Given the description of an element on the screen output the (x, y) to click on. 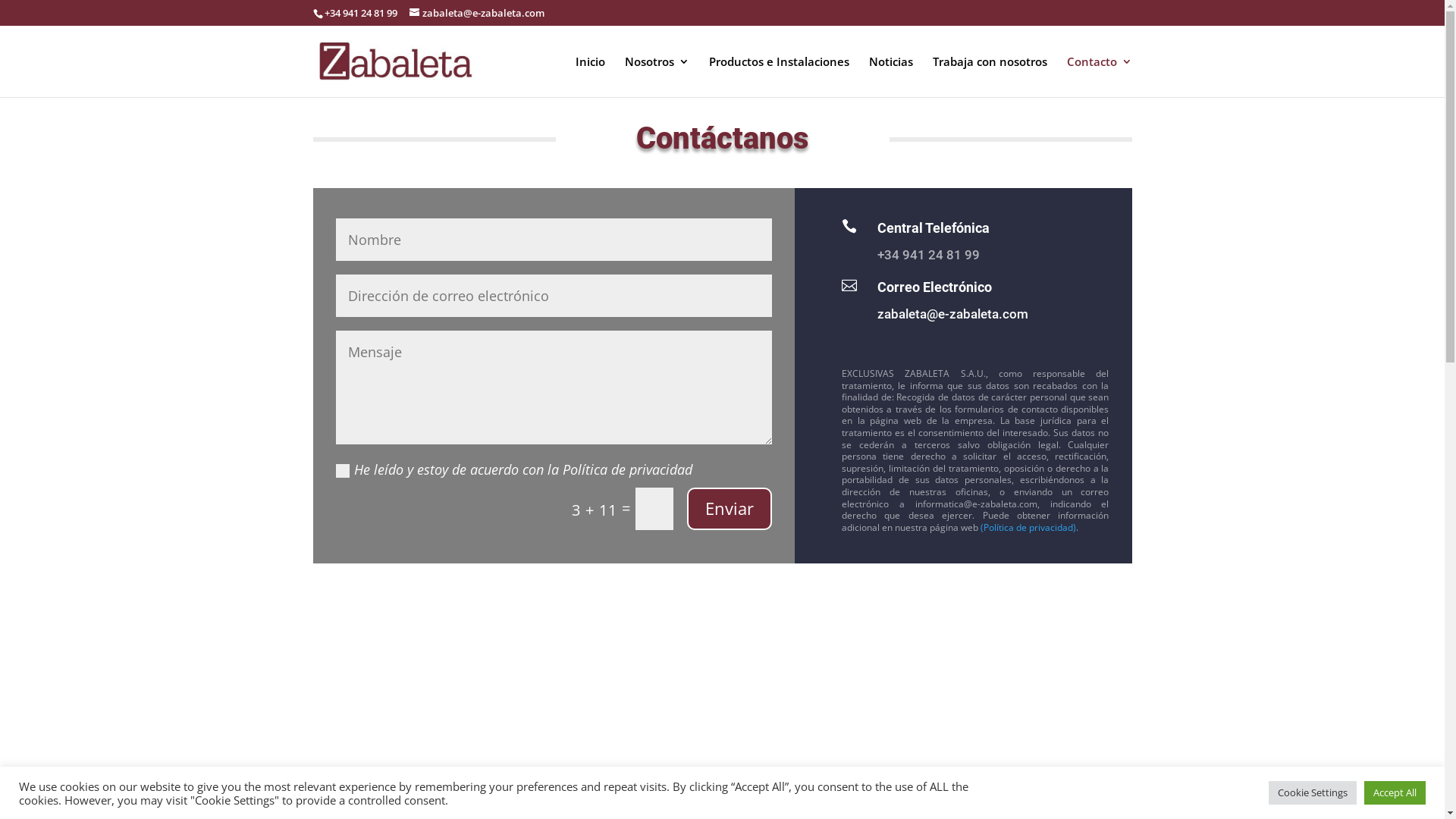
Nosotros Element type: text (656, 76)
zabaleta@e-zabaleta.com Element type: text (476, 12)
Noticias Element type: text (891, 76)
Productos e Instalaciones Element type: text (778, 76)
Trabaja con nosotros Element type: text (989, 76)
Inicio Element type: text (589, 76)
Accept All Element type: text (1394, 792)
Cookie Settings Element type: text (1312, 792)
Contacto Element type: text (1098, 76)
Enviar Element type: text (729, 508)
zabaleta@e-zabaleta.com Element type: text (952, 313)
